Given the description of an element on the screen output the (x, y) to click on. 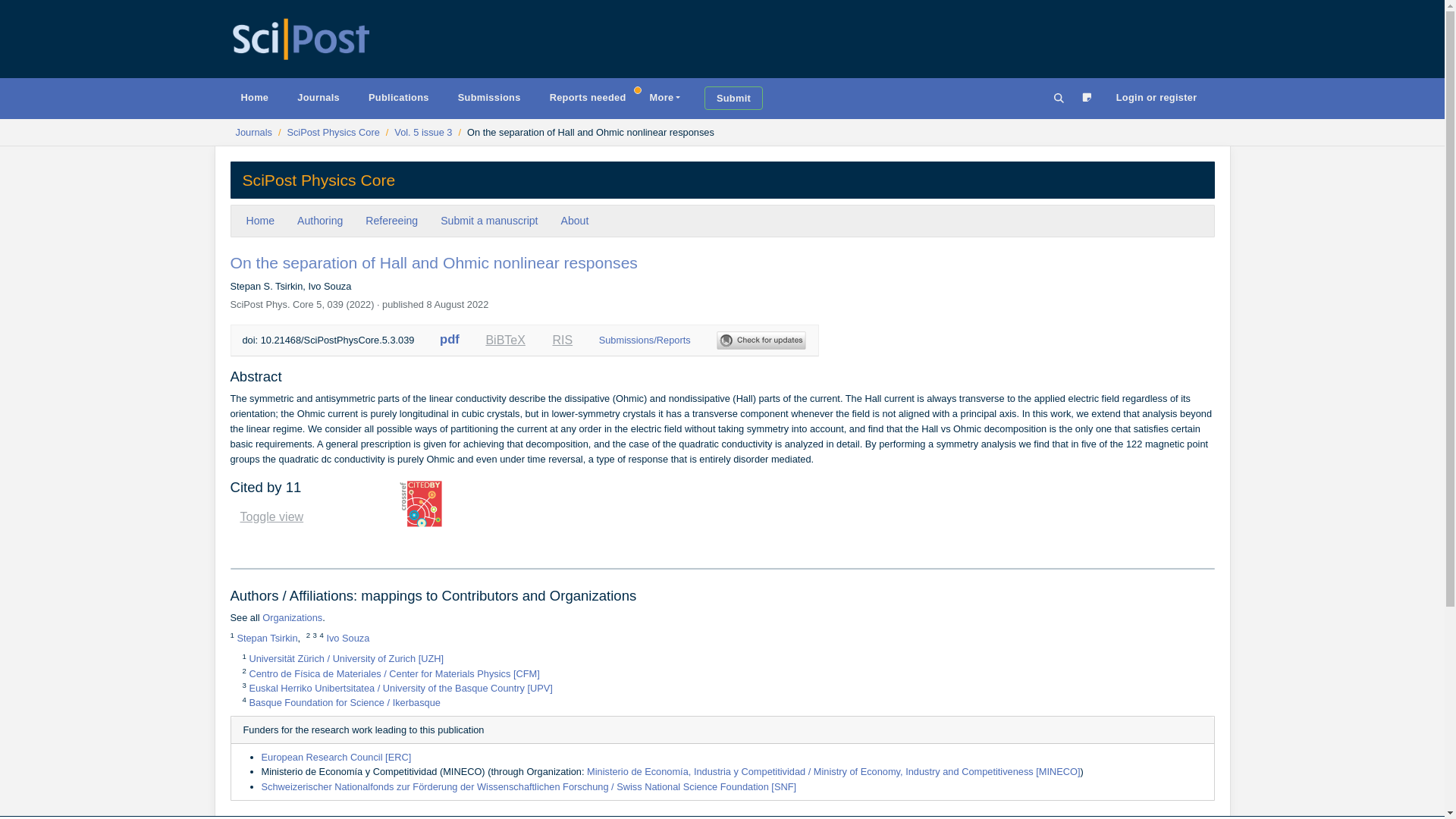
Login or register (1156, 97)
SciPost Physics Core (326, 132)
Authoring (319, 220)
Search (1061, 98)
Journals (587, 97)
Toggle view (252, 132)
Publications (272, 516)
Submit a manuscript (398, 97)
Home (488, 220)
RIS (253, 97)
More (562, 340)
Vol. 5 issue 3 (664, 97)
SciPost Physics Core (416, 132)
Submissions (319, 180)
